Given the description of an element on the screen output the (x, y) to click on. 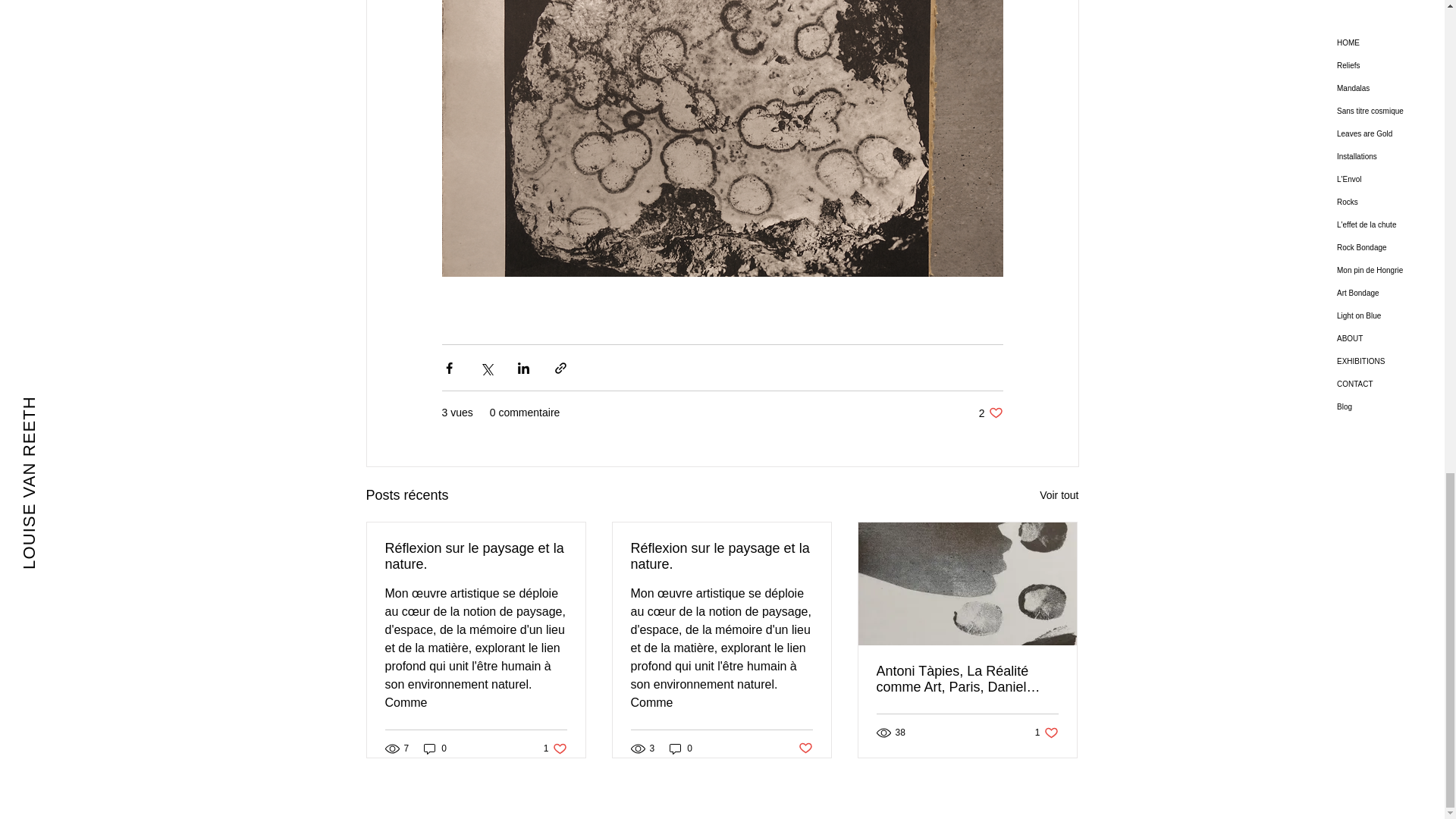
Voir tout (555, 748)
Vous n'aimez plus ce post (1058, 495)
0 (804, 748)
0 (435, 748)
